Given the description of an element on the screen output the (x, y) to click on. 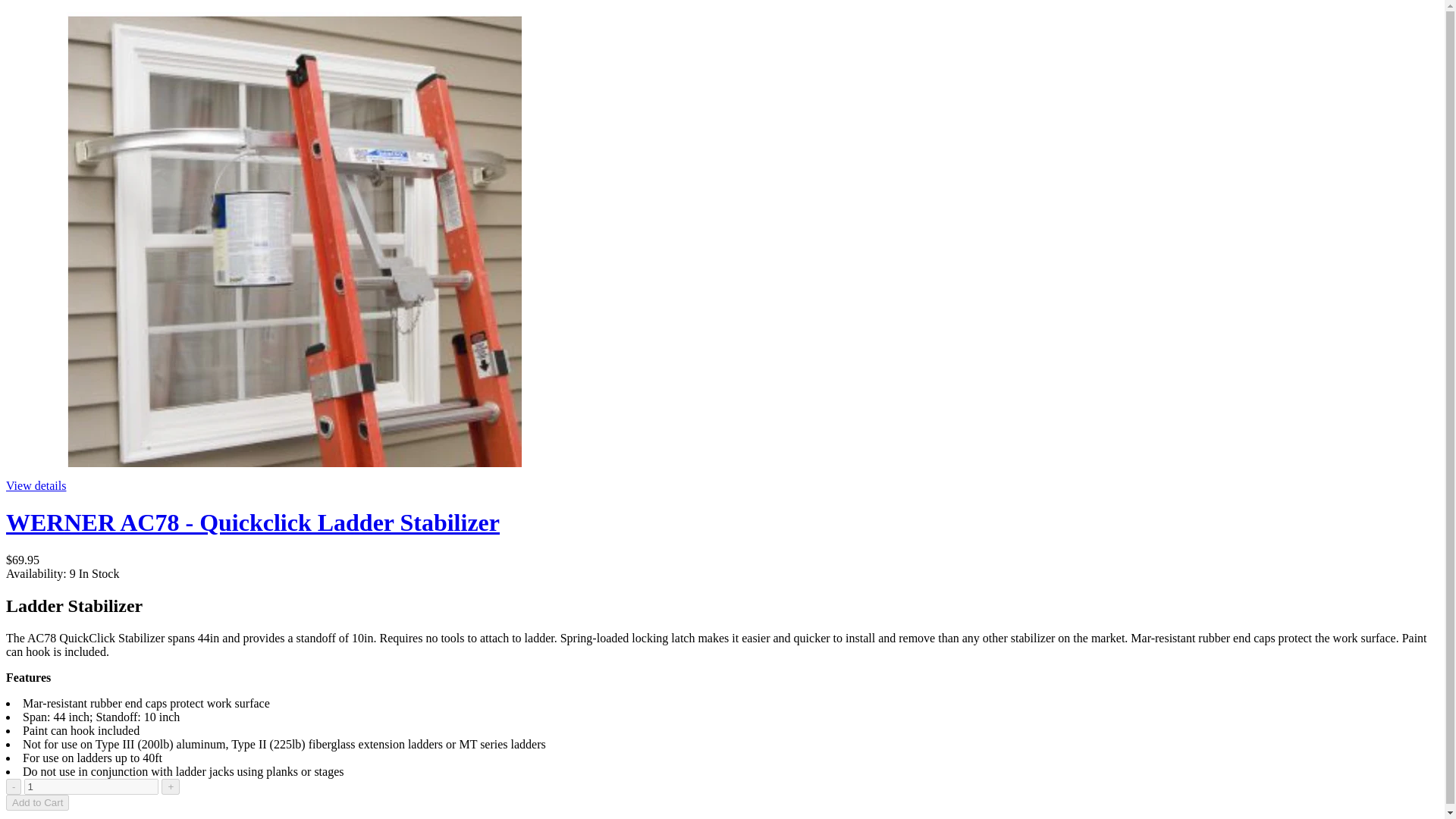
1 (91, 786)
Add to Cart (36, 802)
- (13, 786)
View details (35, 485)
WERNER AC78 - Quickclick Ladder Stabilizer (252, 522)
